Given the description of an element on the screen output the (x, y) to click on. 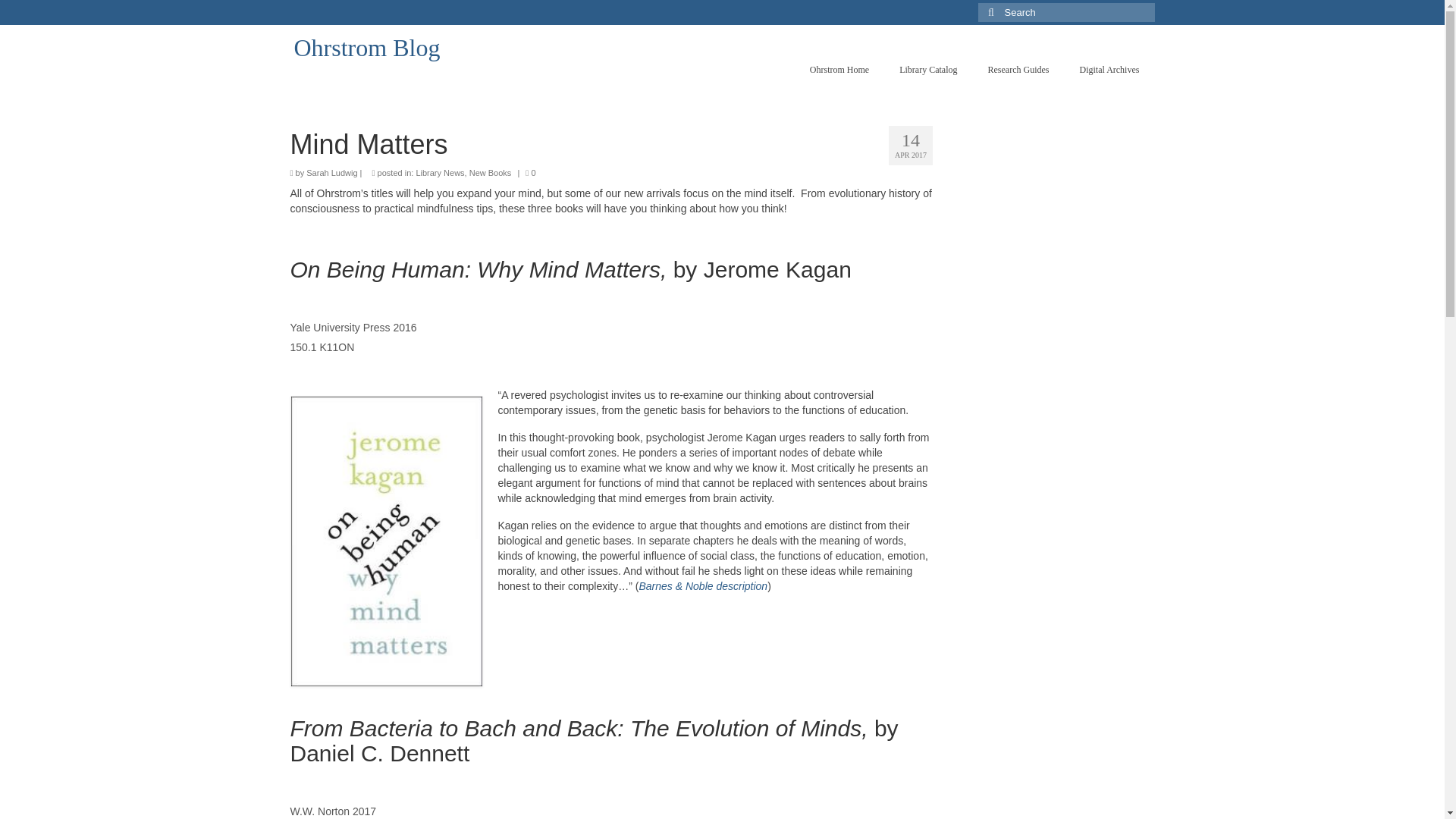
Ohrstrom Home (838, 69)
Digital Archives (1109, 69)
New Books (490, 172)
Library News (439, 172)
Ohrstrom Blog (367, 47)
Library Catalog (927, 69)
Sarah Ludwig (330, 172)
Research Guides on LibGuides (1018, 69)
Research Guides (1018, 69)
